Given the description of an element on the screen output the (x, y) to click on. 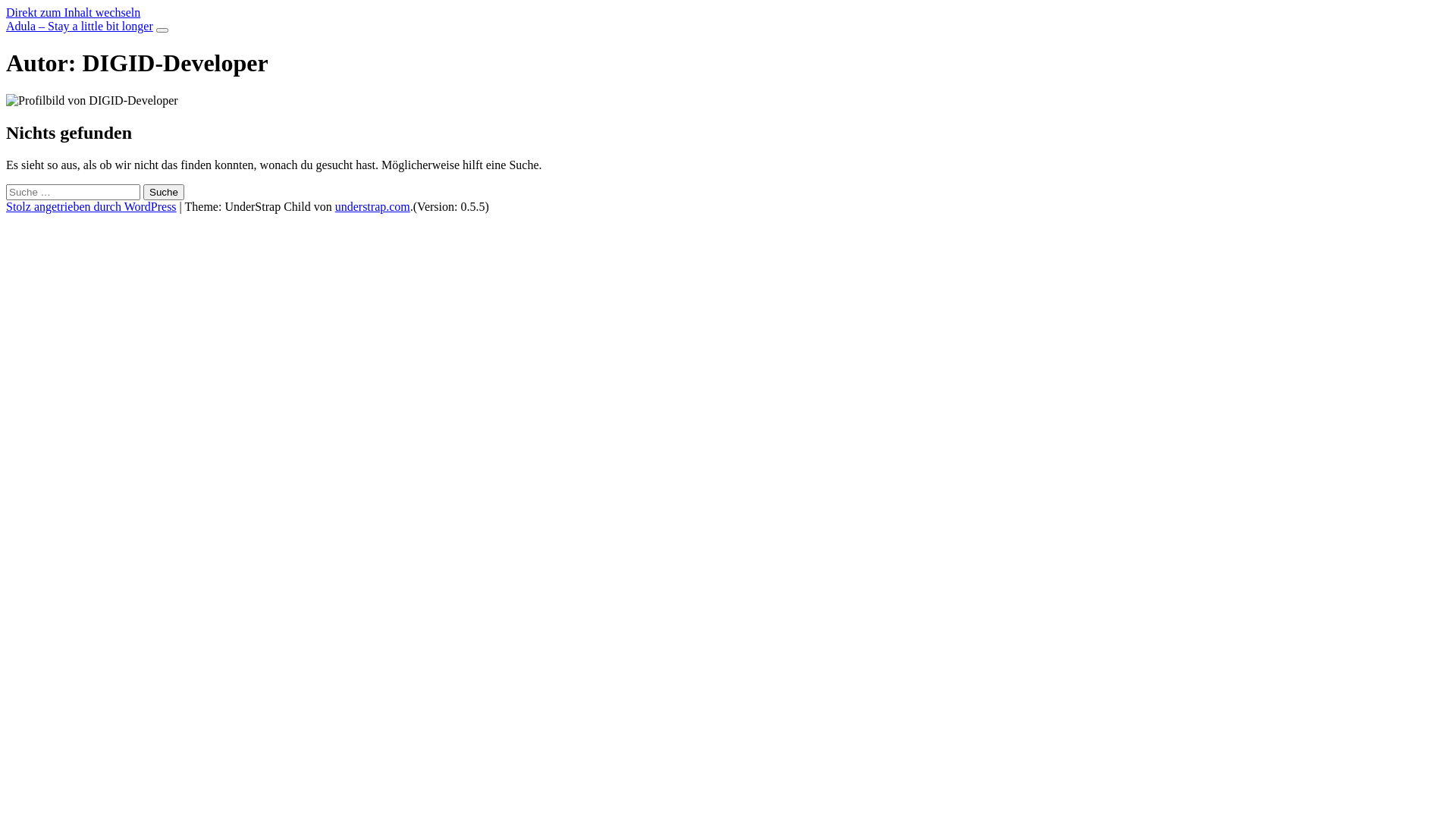
Suche Element type: text (163, 192)
Stolz angetrieben durch WordPress Element type: text (91, 206)
Direkt zum Inhalt wechseln Element type: text (73, 12)
understrap.com Element type: text (372, 206)
